Given the description of an element on the screen output the (x, y) to click on. 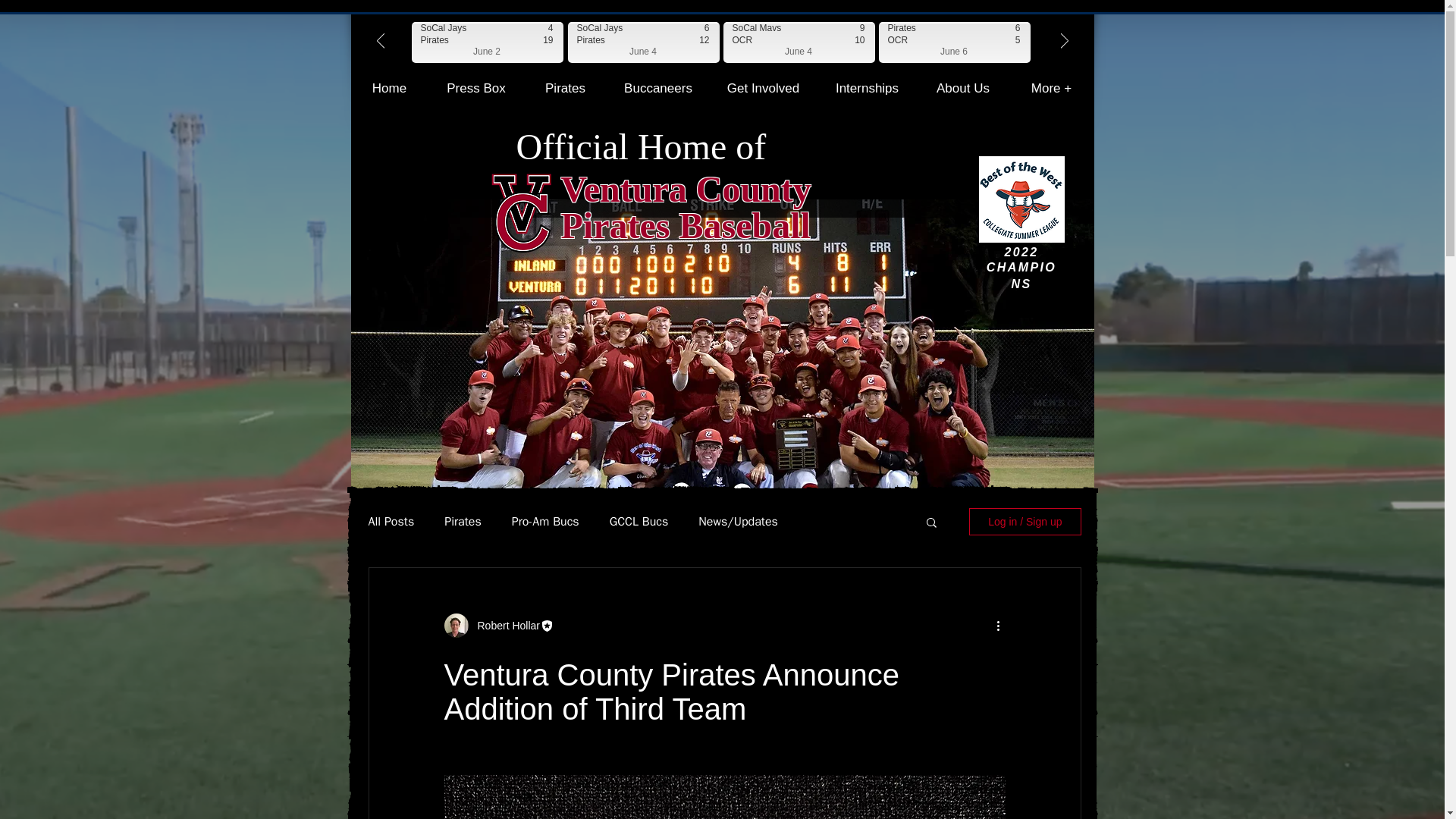
Press Box (685, 206)
Internships (475, 88)
All Posts (866, 88)
About Us (391, 521)
Robert Hollar (963, 88)
GCCL Bucs (504, 625)
Pirates (639, 521)
Home (462, 521)
Get Involved (389, 88)
Pro-Am Bucs (763, 88)
